Given the description of an element on the screen output the (x, y) to click on. 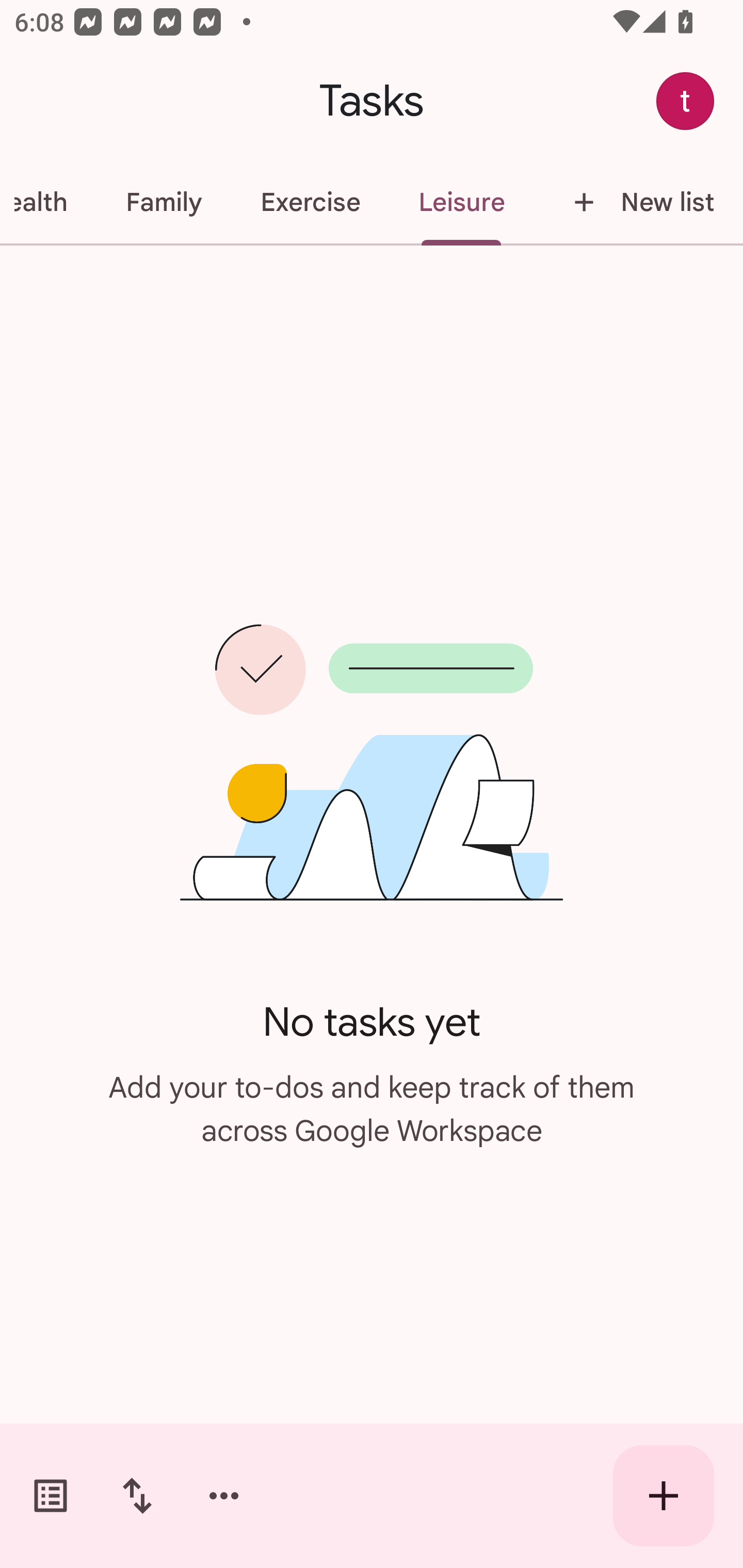
Health (48, 202)
Family (163, 202)
Exercise (310, 202)
New list (638, 202)
Switch task lists (50, 1495)
Create new task (663, 1495)
Change sort order (136, 1495)
More options (223, 1495)
